Given the description of an element on the screen output the (x, y) to click on. 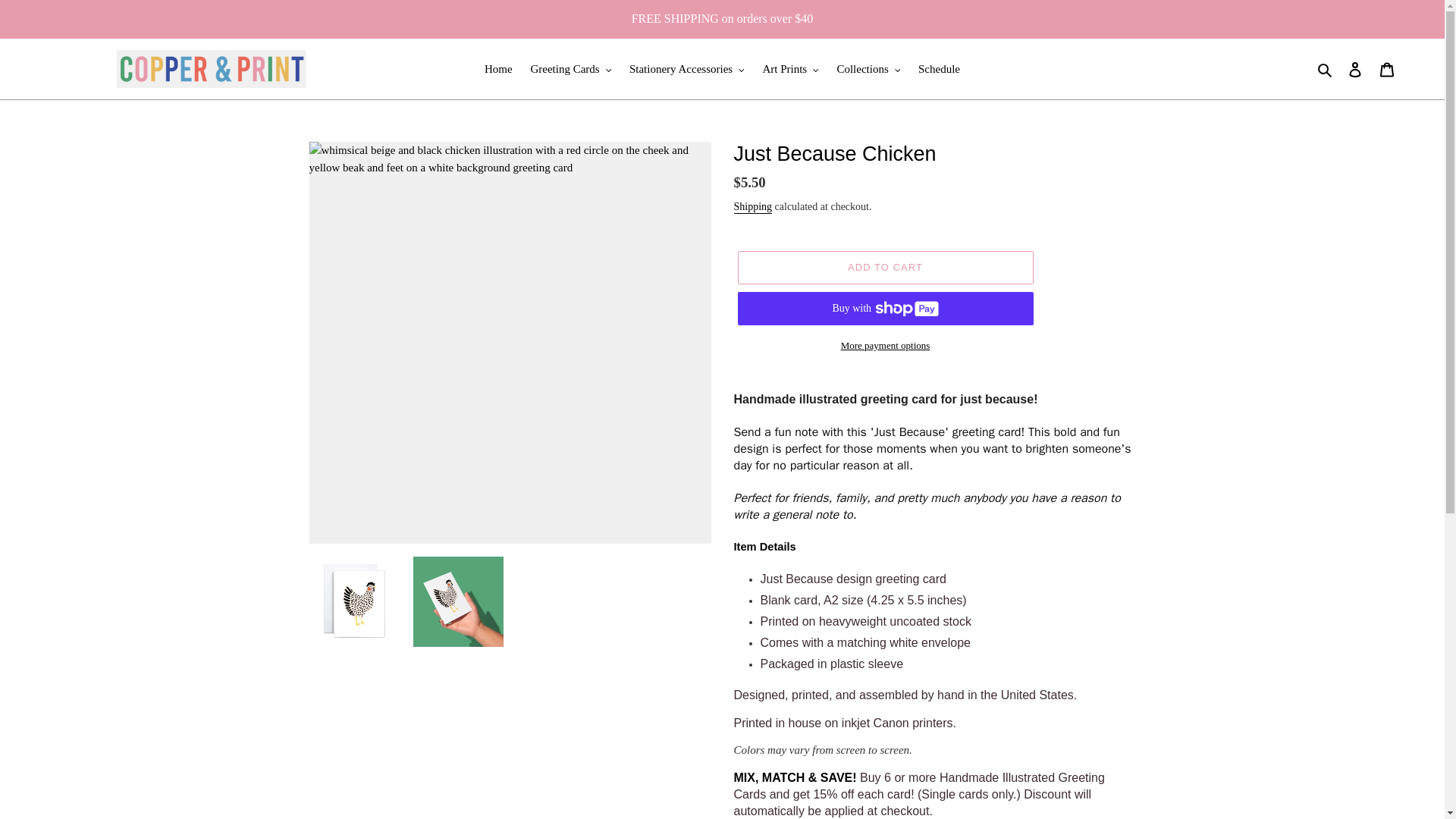
Art Prints (789, 69)
Collections (867, 69)
Home (498, 69)
Greeting Cards (570, 69)
Stationery Accessories (686, 69)
